Given the description of an element on the screen output the (x, y) to click on. 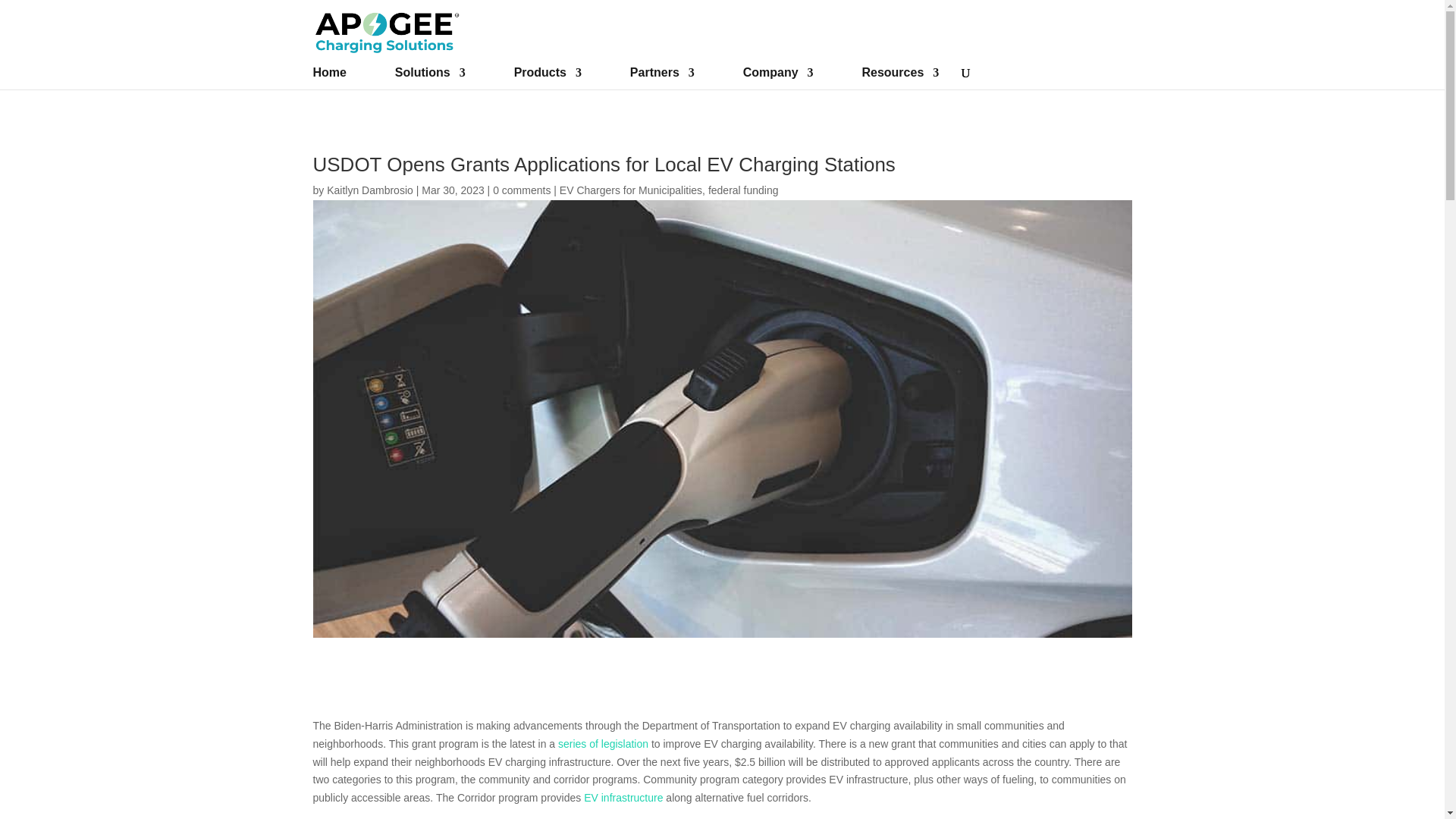
0 comments (521, 190)
Resources (900, 78)
Solutions (429, 78)
Company (777, 78)
Home (329, 78)
Products (546, 78)
series of legislation (602, 743)
EV infrastructure (622, 797)
Kaitlyn Dambrosio (369, 190)
federal funding (742, 190)
